Given the description of an element on the screen output the (x, y) to click on. 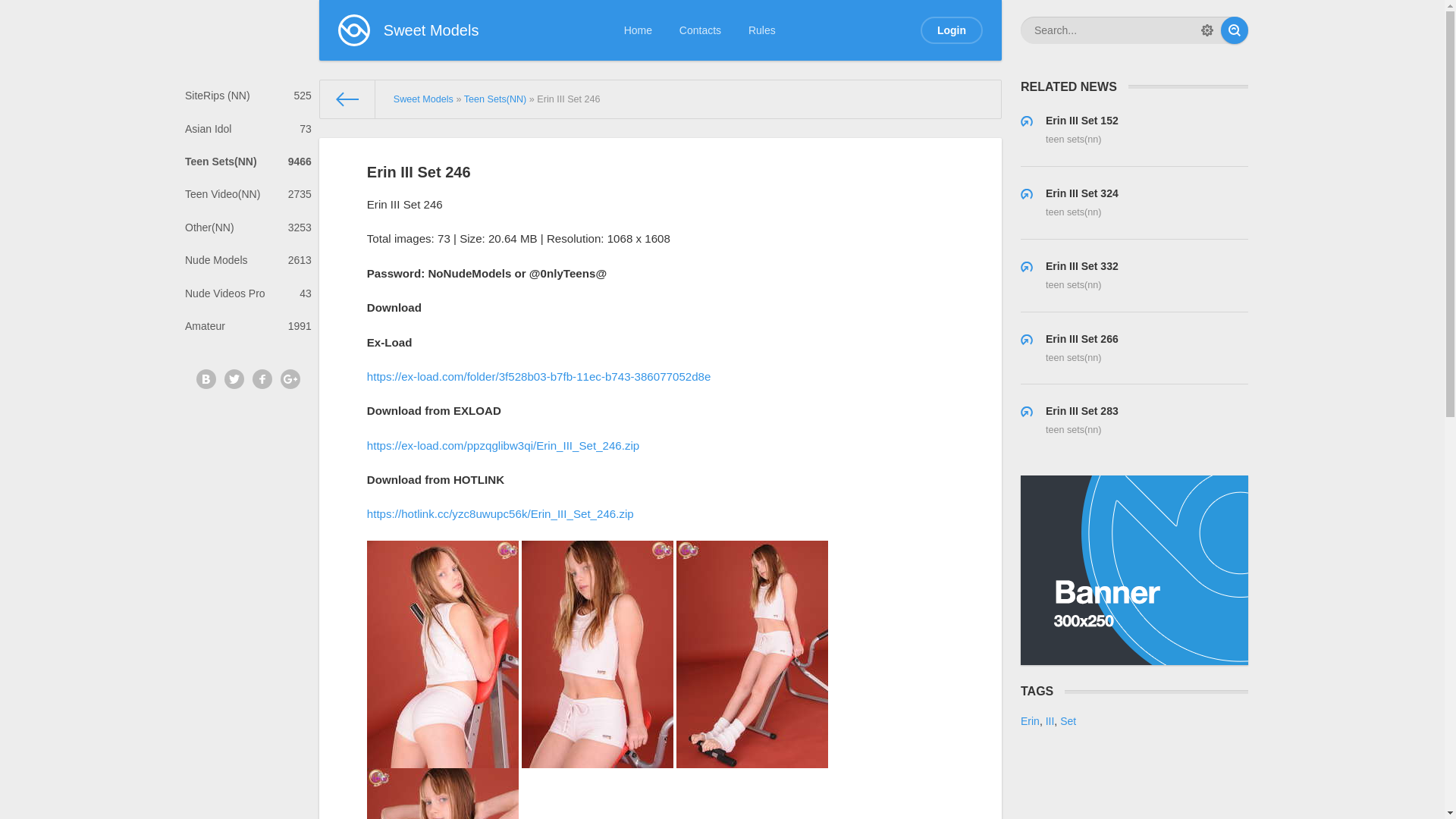
SiteRips (NN)
525 Element type: text (248, 95)
Erin III Set 266
teen sets(nn) Element type: text (1134, 348)
Find Element type: hover (1234, 29)
Erin Element type: text (1029, 721)
Sweet Models Element type: text (423, 99)
Nude Models
2613 Element type: text (248, 260)
Erin III Set 332
teen sets(nn) Element type: text (1134, 275)
Amateur
1991 Element type: text (248, 326)
Teen Sets(NN)
9466 Element type: text (248, 161)
III Element type: text (1049, 721)
Set Element type: text (1068, 721)
Login Element type: text (951, 29)
VK Element type: hover (206, 379)
Other(NN)
3253 Element type: text (248, 227)
Google Element type: hover (290, 379)
Asian Idol
73 Element type: text (248, 128)
https://hotlink.cc/yzc8uwupc56k/Erin_III_Set_246.zip Element type: text (500, 513)
Erin III Set 324
teen sets(nn) Element type: text (1134, 202)
Teen Sets(NN) Element type: text (495, 99)
Nude Videos Pro
43 Element type: text (248, 292)
Sweet Models Element type: text (408, 30)
https://ex-load.com/ppzqglibw3qi/Erin_III_Set_246.zip Element type: text (503, 445)
Facebook Element type: hover (262, 379)
Erin III Set 152
teen sets(nn) Element type: text (1134, 130)
Extended Search Element type: hover (1206, 29)
Erin III Set 283
teen sets(nn) Element type: text (1134, 420)
Twitter Element type: hover (234, 379)
Contacts Element type: text (700, 30)
Home Element type: text (637, 30)
Rules Element type: text (761, 30)
Teen Video(NN)
2735 Element type: text (248, 194)
